Given the description of an element on the screen output the (x, y) to click on. 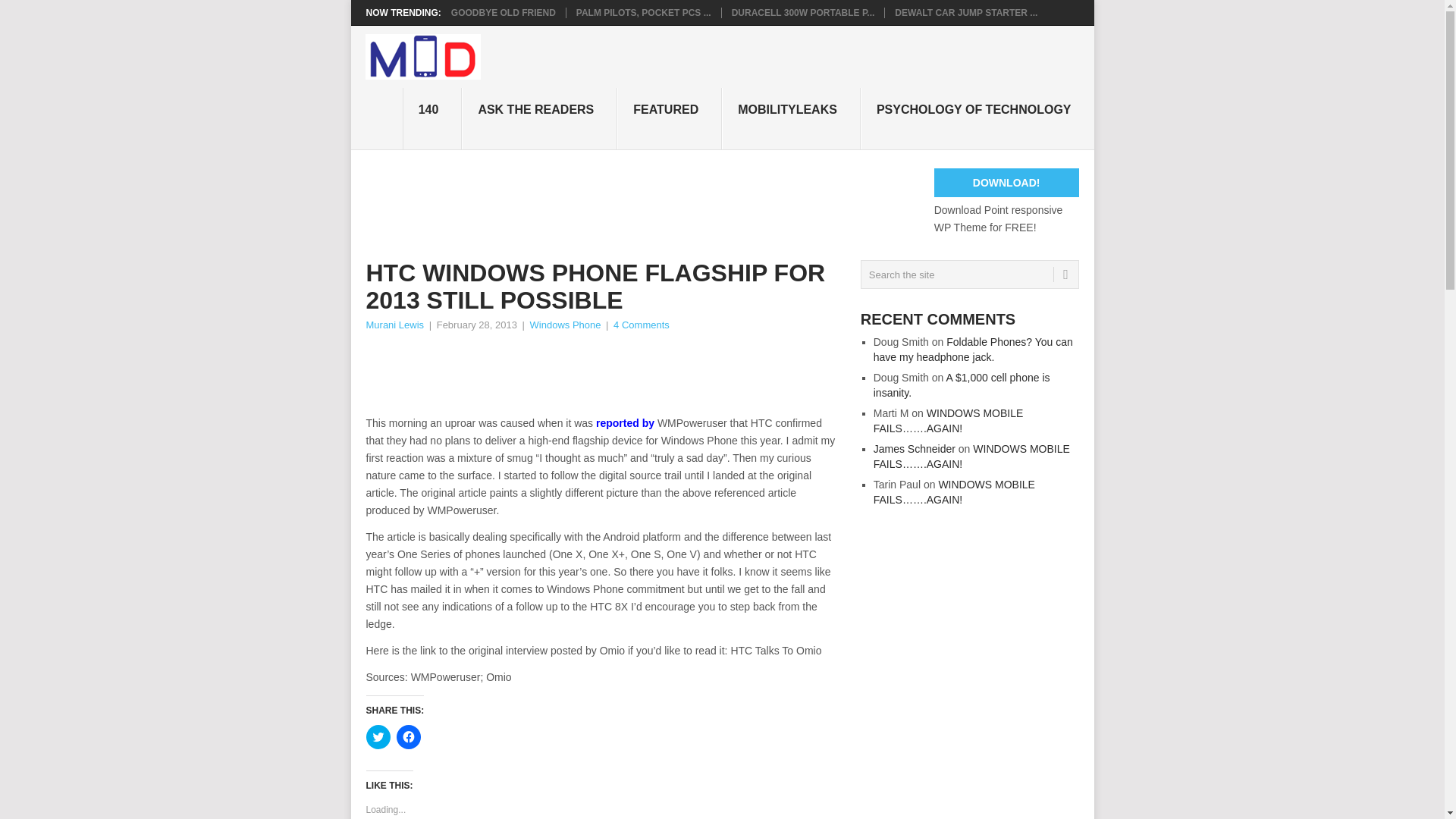
Duracell 300w Portable Power Station Review (803, 12)
Search the site (969, 274)
PSYCHOLOGY OF TECHNOLOGY (977, 118)
Advertisement (641, 375)
DEWALT CAR JUMP STARTER ... (965, 12)
Advertisement (641, 202)
DOWNLOAD! (1006, 182)
Palm Pilots, Pocket PCs and Boogie Boards (643, 12)
DURACELL 300W PORTABLE P... (803, 12)
DeWalt Car Jump Starter Review (965, 12)
